Given the description of an element on the screen output the (x, y) to click on. 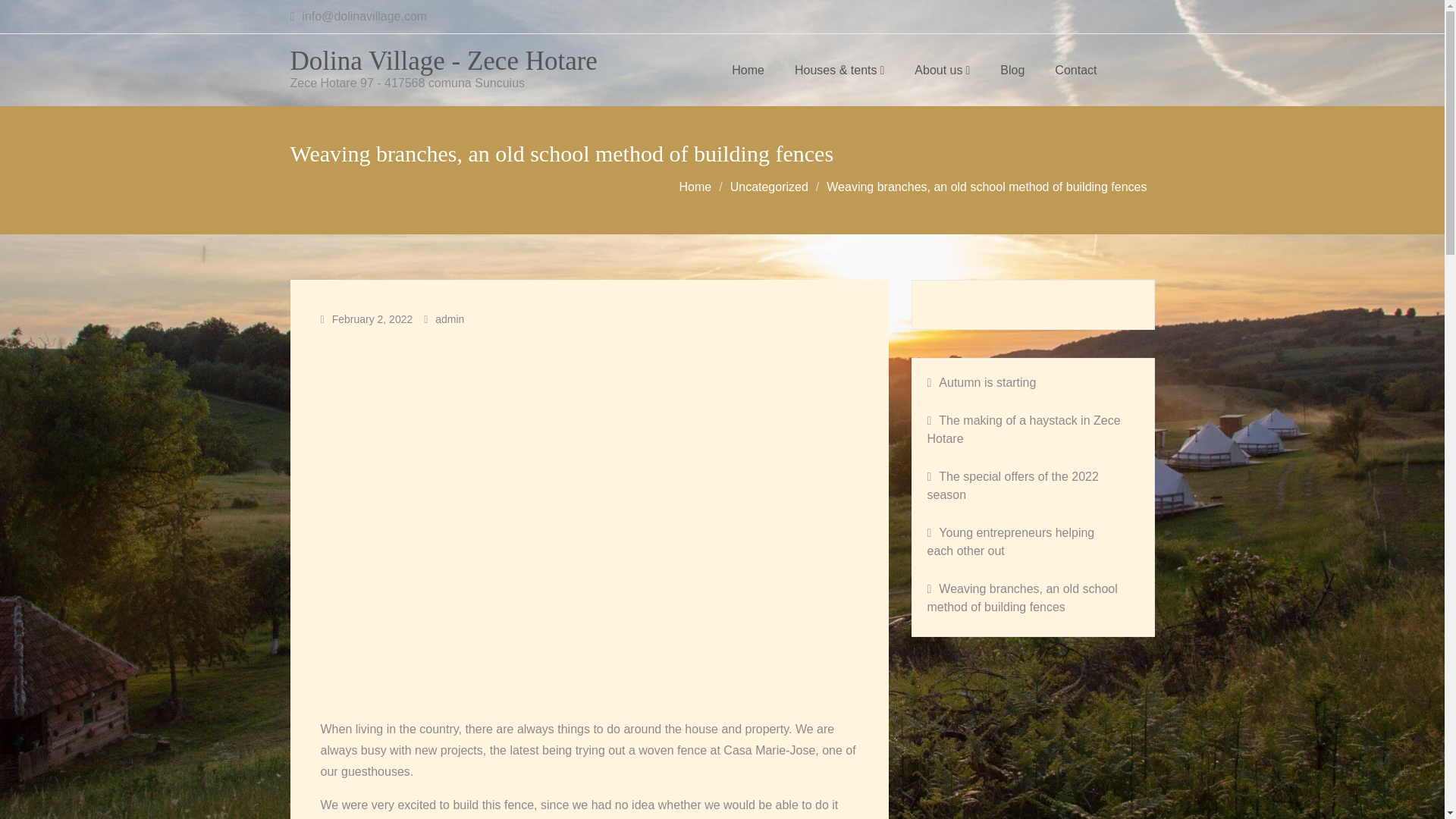
Uncategorized (769, 186)
Dolina Village - Zece Hotare (442, 60)
Autumn is starting (1024, 382)
Contact (1075, 69)
The special offers of the 2022 season (1032, 485)
Blog (1012, 69)
admin (449, 318)
Home (695, 186)
The making of a haystack in Zece Hotare (1024, 429)
Home (747, 69)
